Given the description of an element on the screen output the (x, y) to click on. 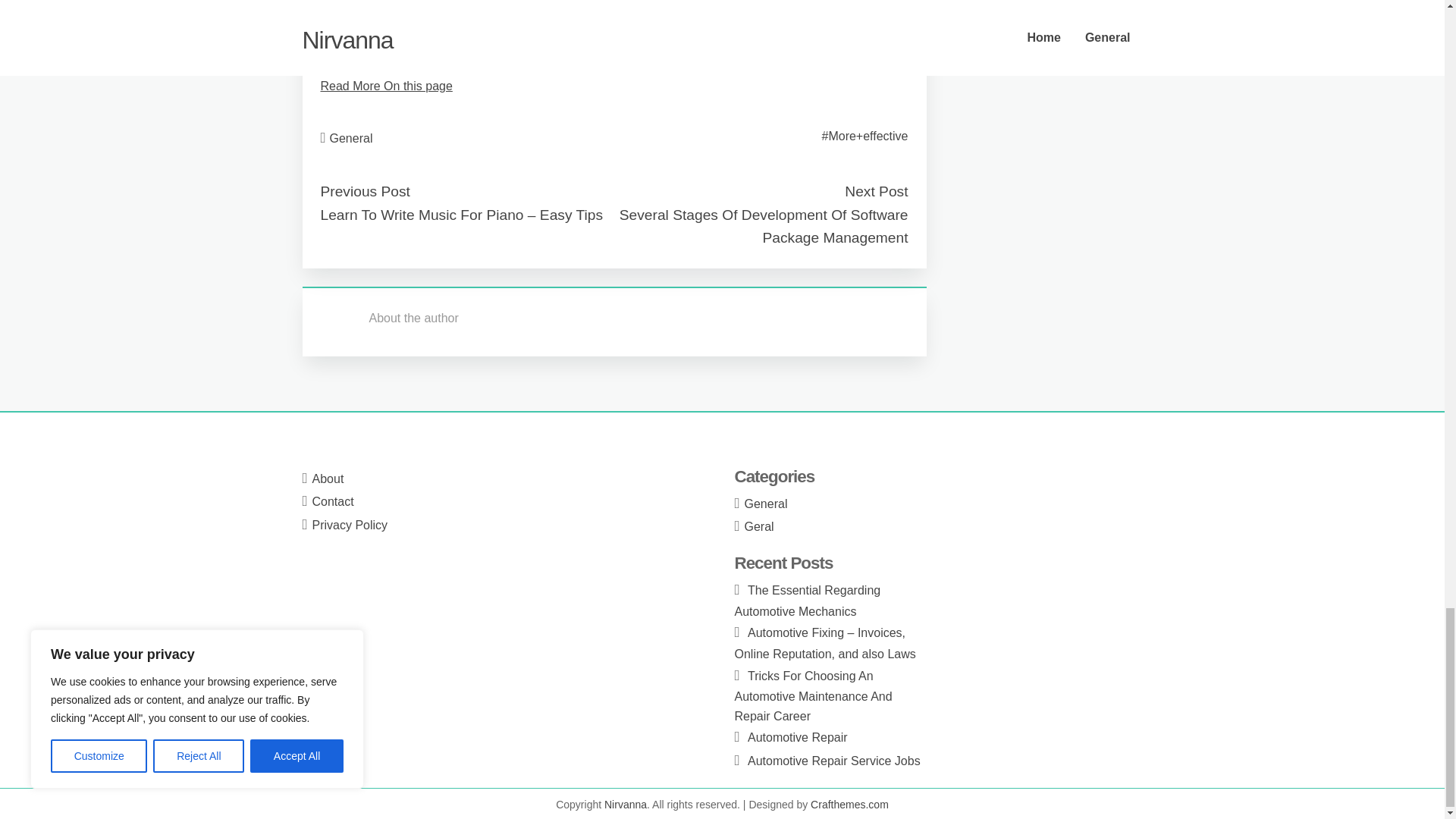
Previous Post (364, 191)
Visit the up coming post (384, 9)
Several Stages Of Development Of Software Package Management (764, 226)
Next Post (875, 191)
General (351, 137)
Read More On this page (385, 85)
visit the next internet site (386, 47)
